Given the description of an element on the screen output the (x, y) to click on. 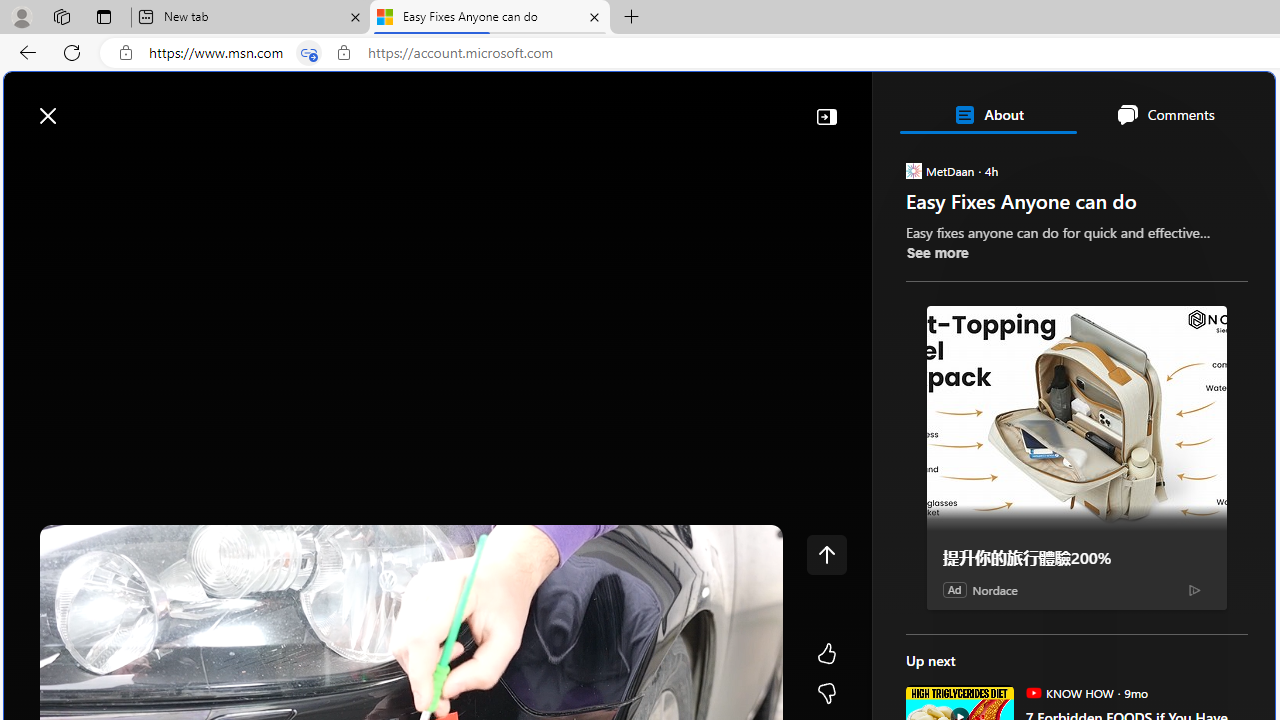
Easy Fixes Anyone can do (490, 17)
Like (826, 653)
Tabs in split screen (308, 53)
